Given the description of an element on the screen output the (x, y) to click on. 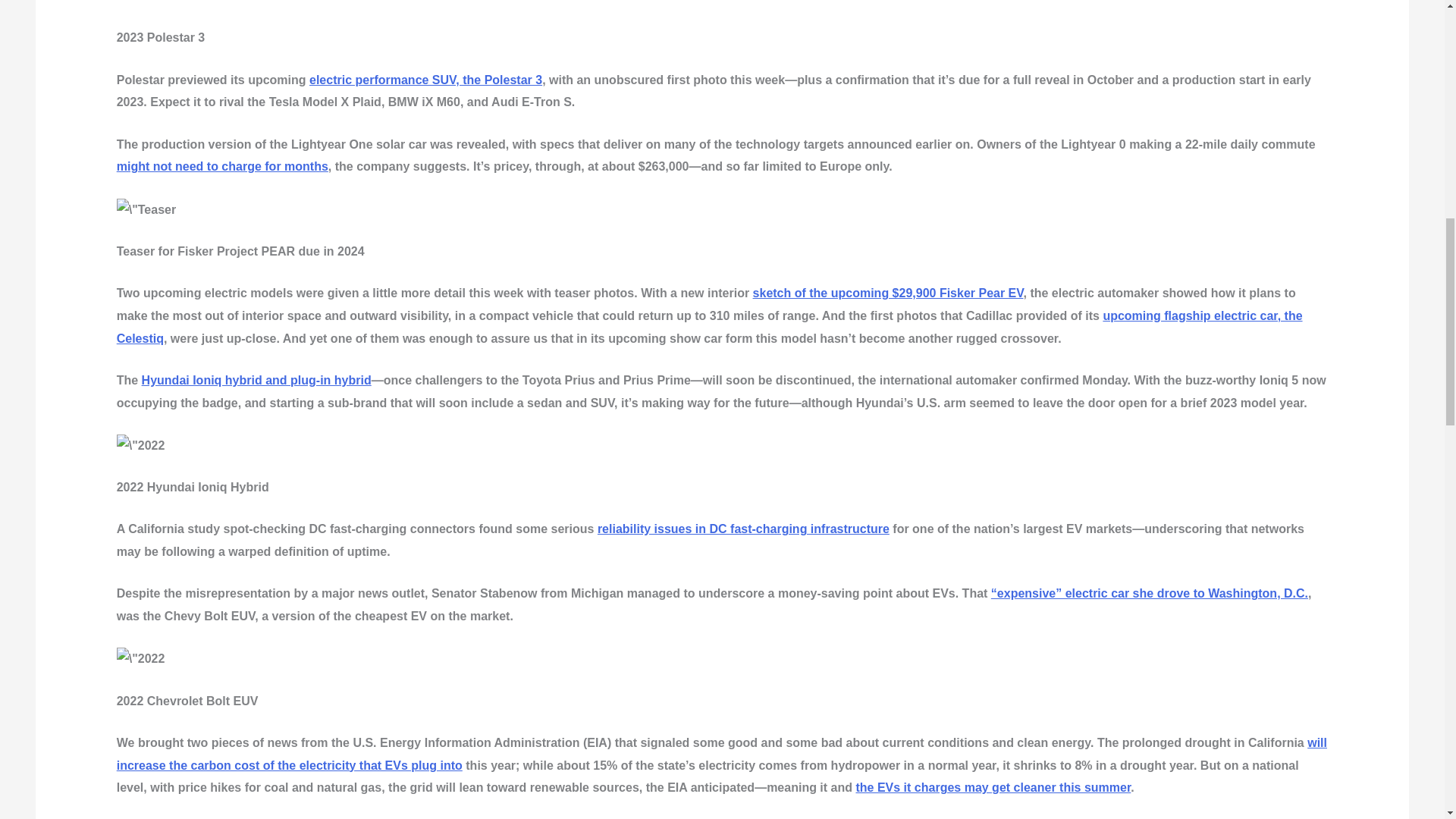
the EVs it charges may get cleaner this summer (993, 787)
reliability issues in DC fast-charging infrastructure (742, 528)
upcoming flagship electric car, the Celestiq (709, 326)
might not need to charge for months (222, 165)
electric performance SUV, the Polestar 3 (424, 79)
Hyundai Ioniq hybrid and plug-in hybrid (256, 379)
